Given the description of an element on the screen output the (x, y) to click on. 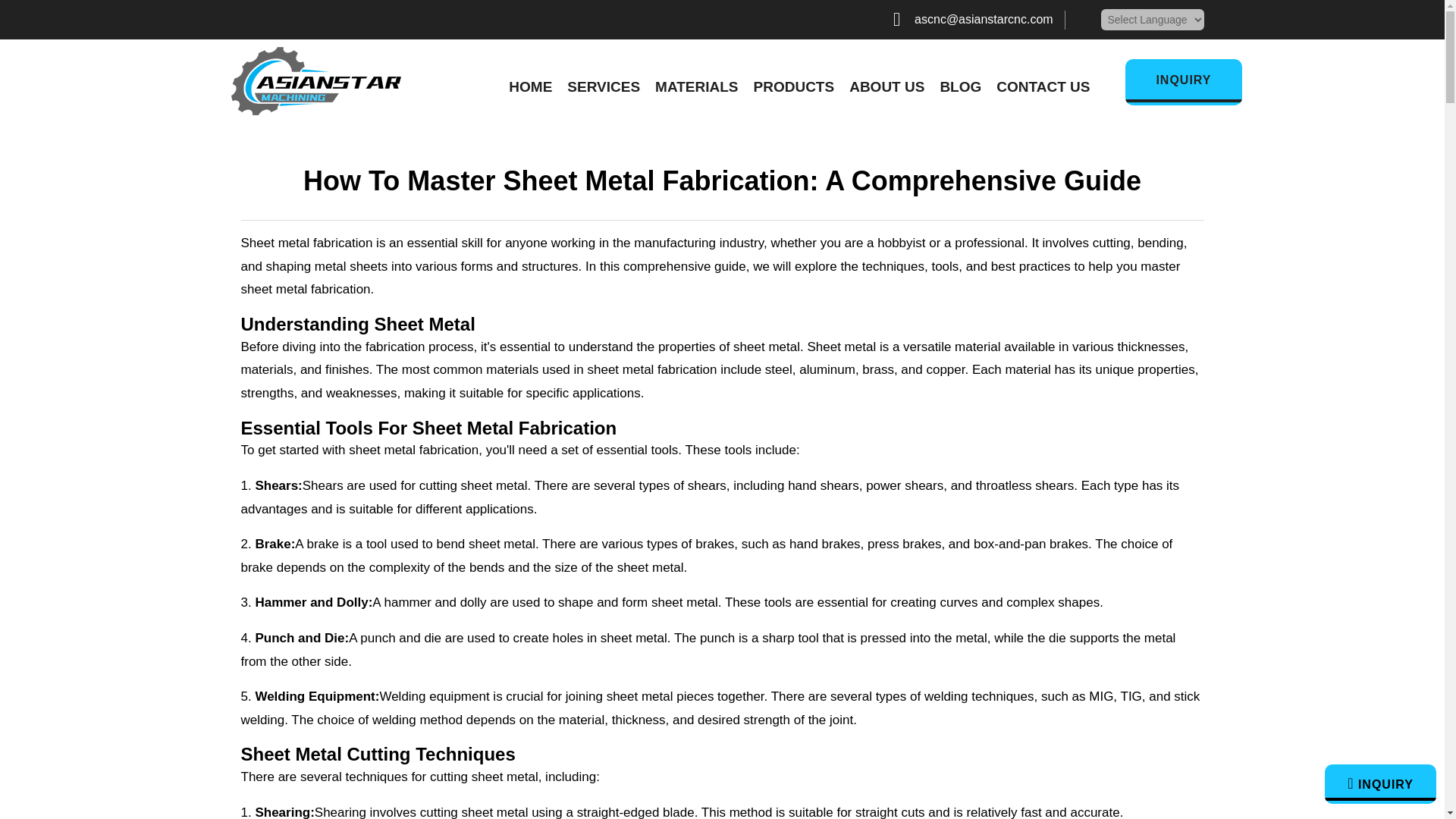
INQUIRY (1183, 81)
BLOG (960, 86)
HOME (529, 86)
MATERIALS (696, 86)
PRODUCTS (794, 86)
SERVICES (603, 86)
ABOUT US (886, 86)
CONTACT US (1042, 86)
